Given the description of an element on the screen output the (x, y) to click on. 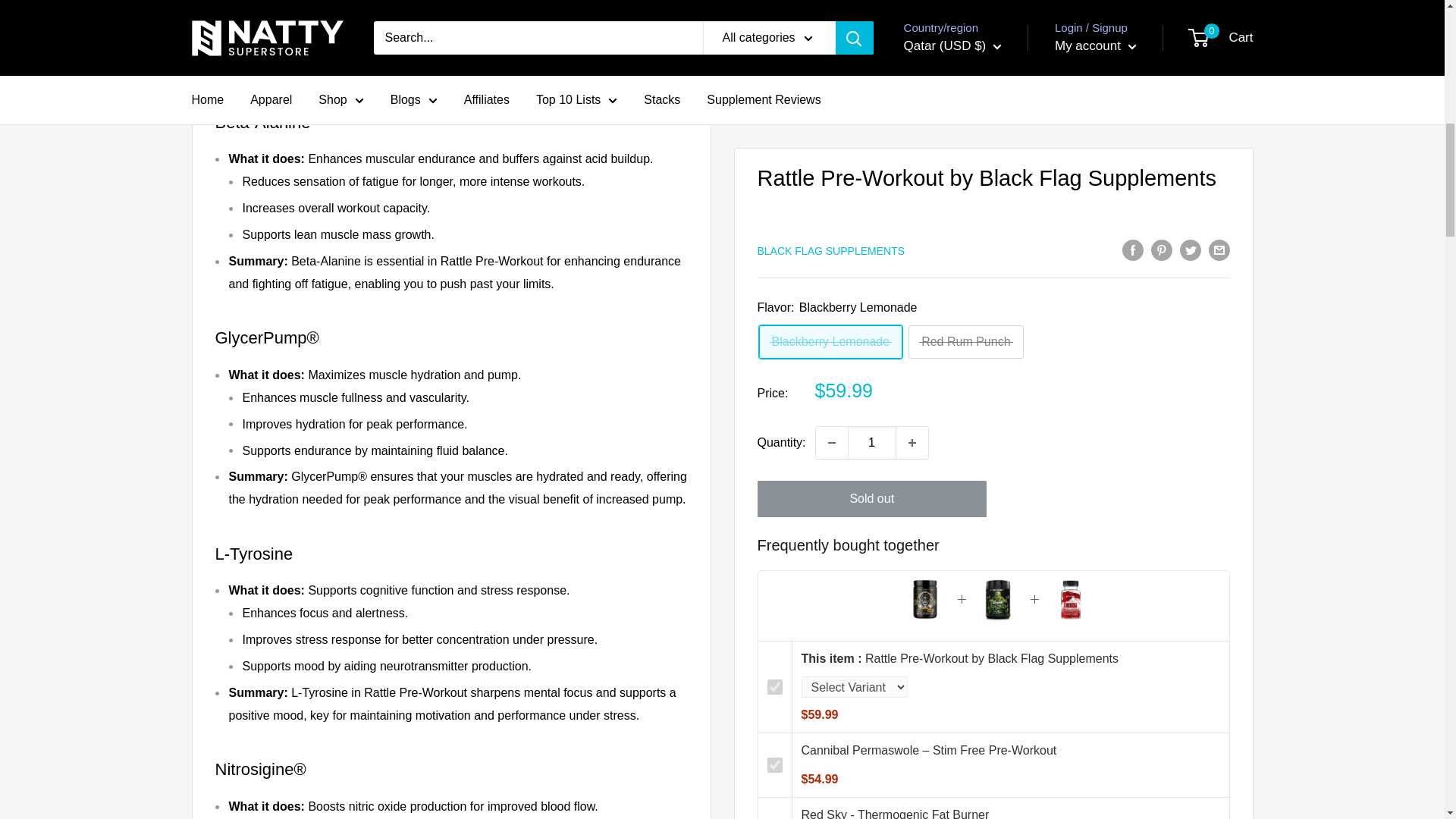
on (775, 74)
on (775, 10)
